Given the description of an element on the screen output the (x, y) to click on. 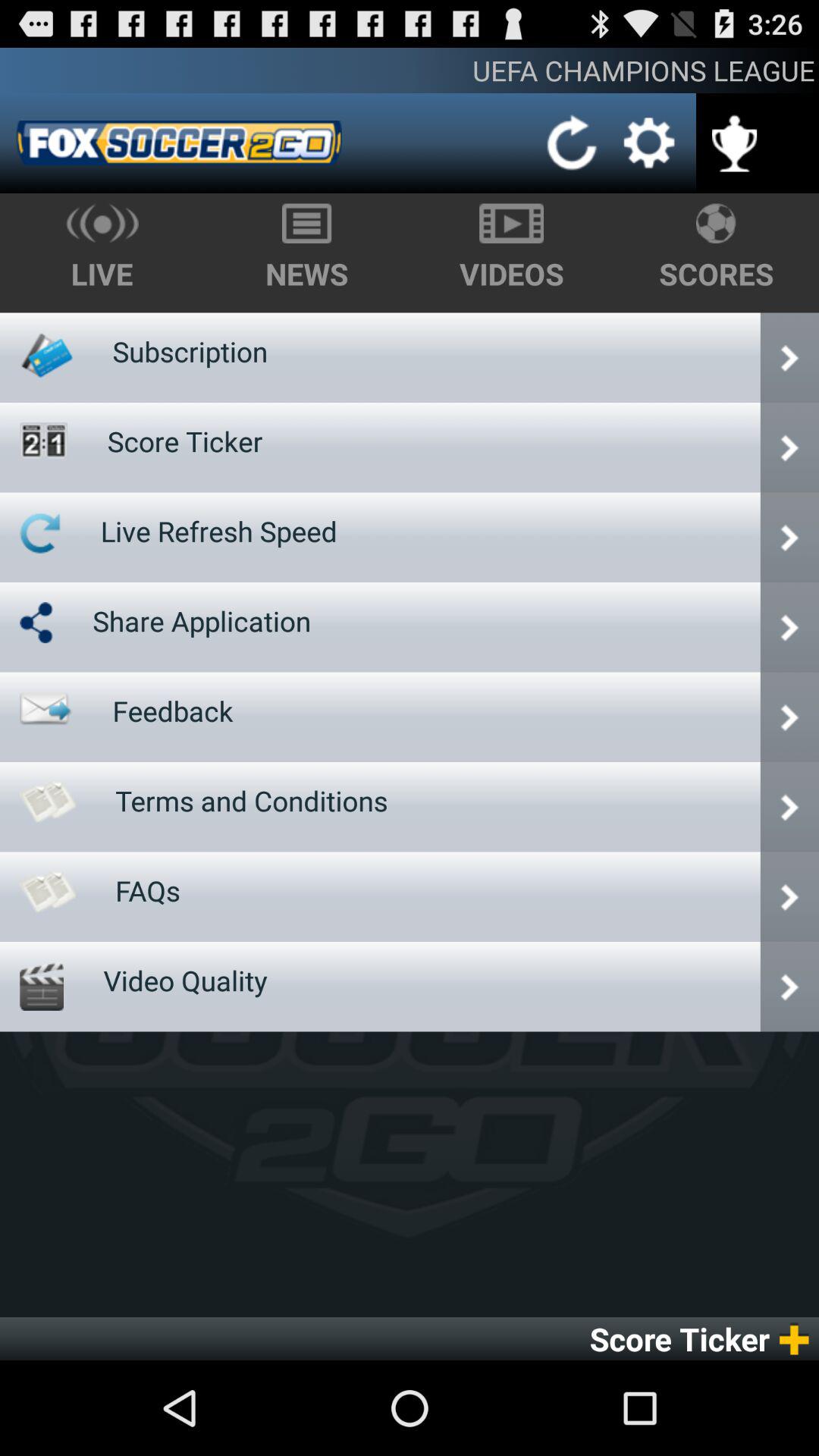
flip until share application app (201, 620)
